Given the description of an element on the screen output the (x, y) to click on. 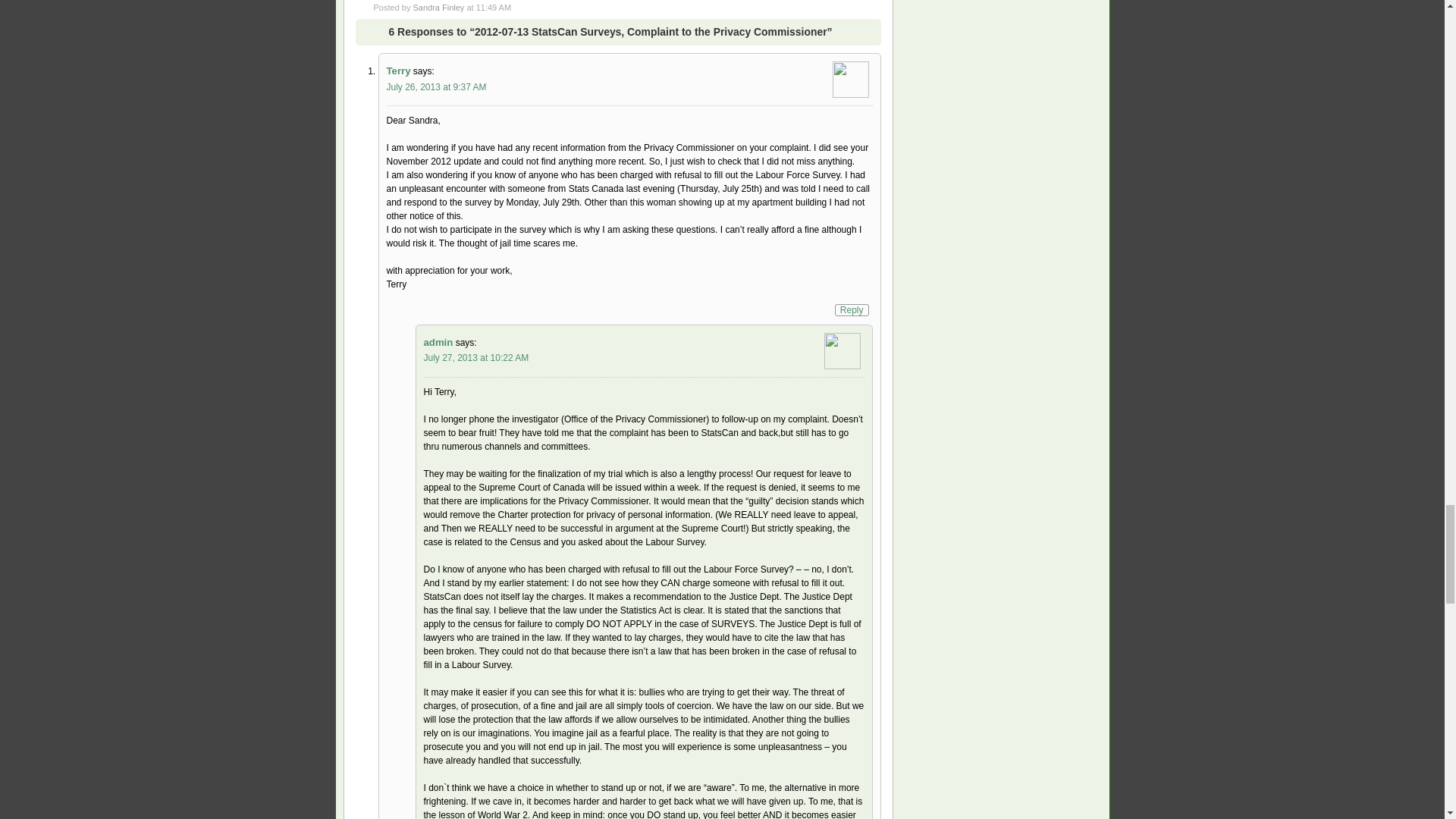
Reply (851, 309)
July 26, 2013 at 9:37 AM (436, 86)
Sandra Finley (438, 7)
July 27, 2013 at 10:22 AM (475, 357)
